Given the description of an element on the screen output the (x, y) to click on. 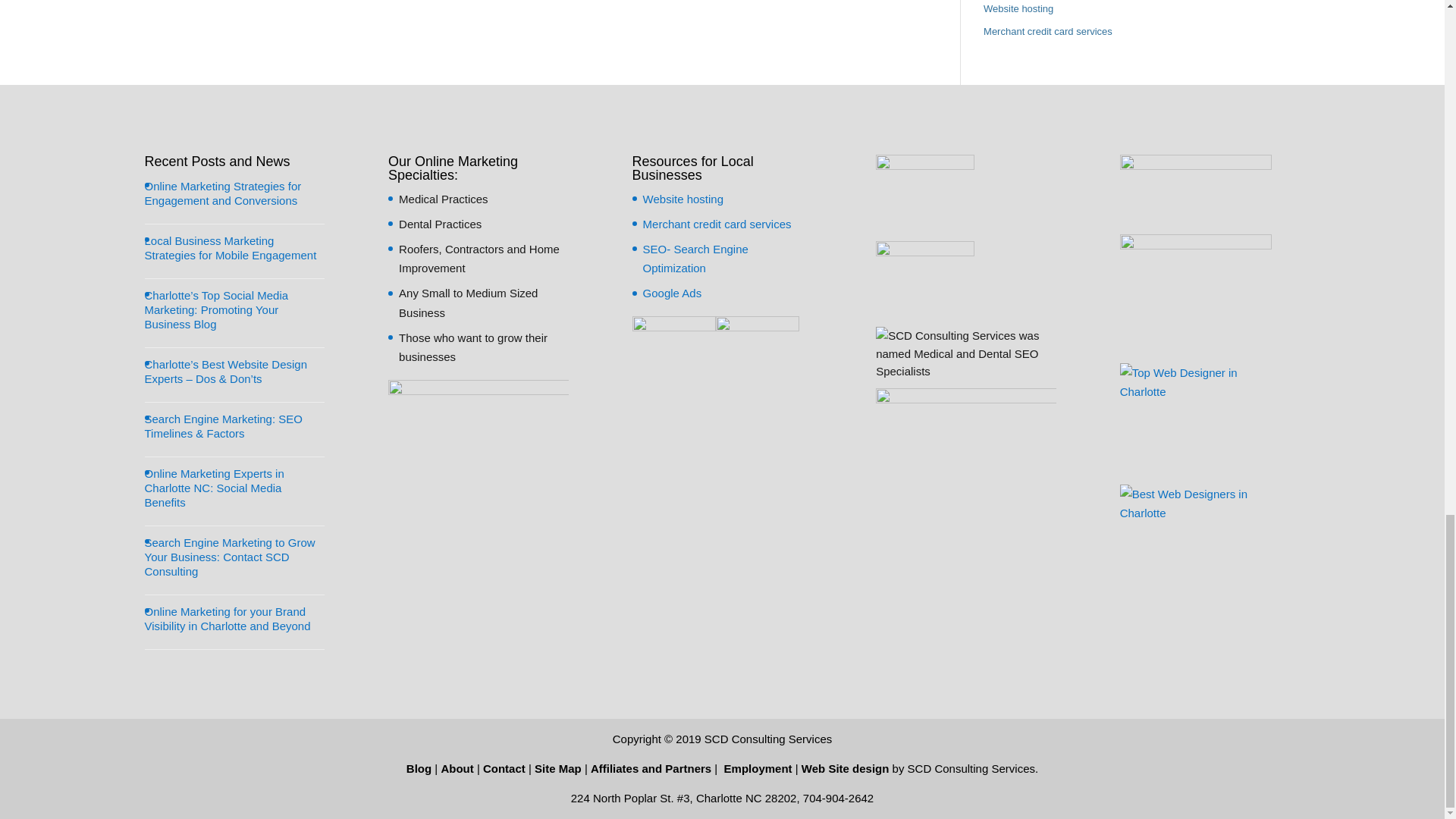
Recommended website hosting company (1018, 8)
Accept credit cards at your business (1048, 30)
Blog for SCD Consulting Services (418, 768)
